Given the description of an element on the screen output the (x, y) to click on. 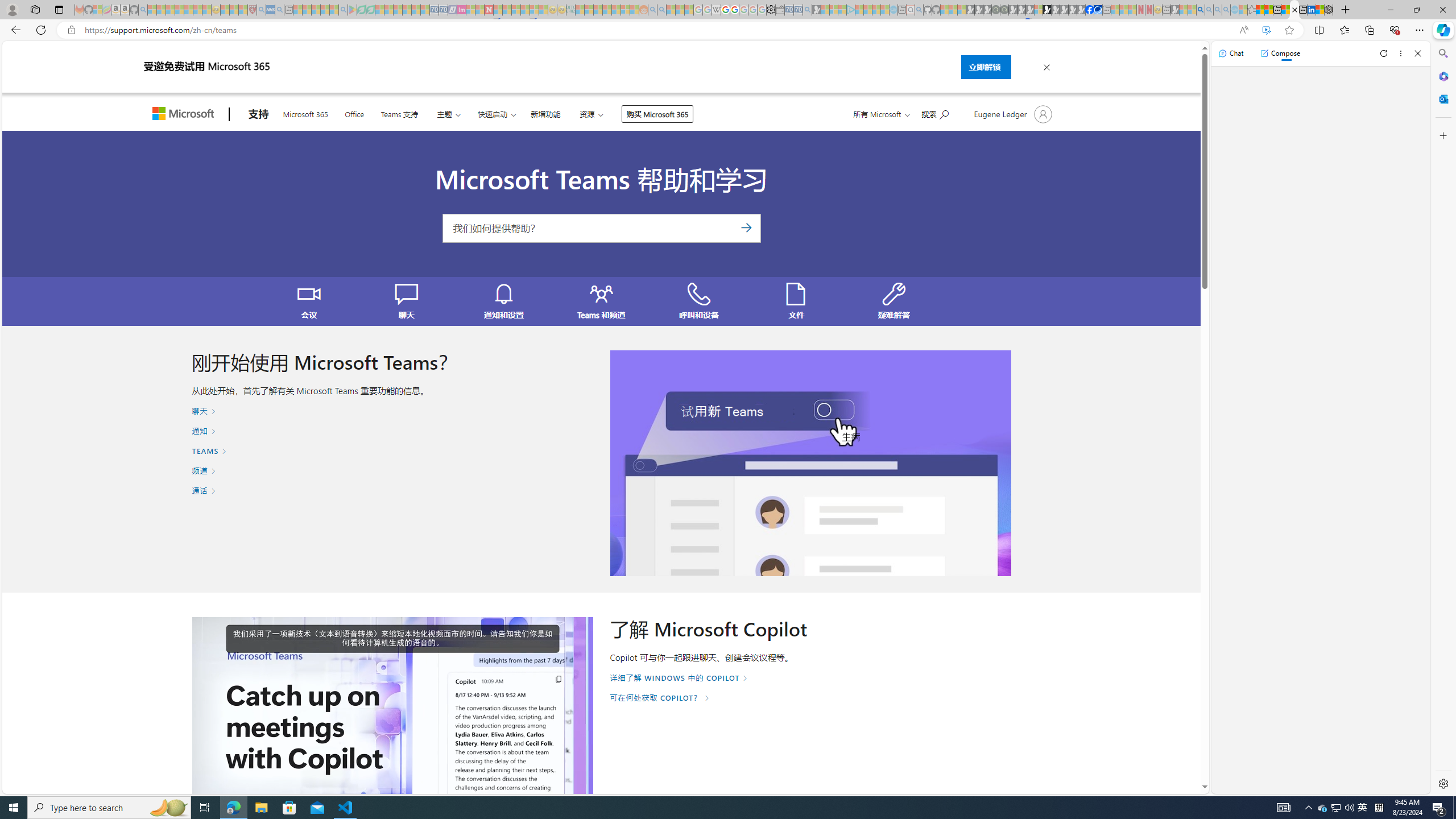
Sign in to your account - Sleeping (1038, 9)
Microsoft 365 (1442, 76)
Settings and more (Alt+F) (1419, 29)
Workspaces (34, 9)
New tab - Sleeping (1165, 9)
Robert H. Shmerling, MD - Harvard Health - Sleeping (252, 9)
Microsoft Start Gaming - Sleeping (815, 9)
DITOGAMES AG Imprint - Sleeping (570, 9)
Cheap Hotels - Save70.com - Sleeping (442, 9)
App bar (728, 29)
